Given the description of an element on the screen output the (x, y) to click on. 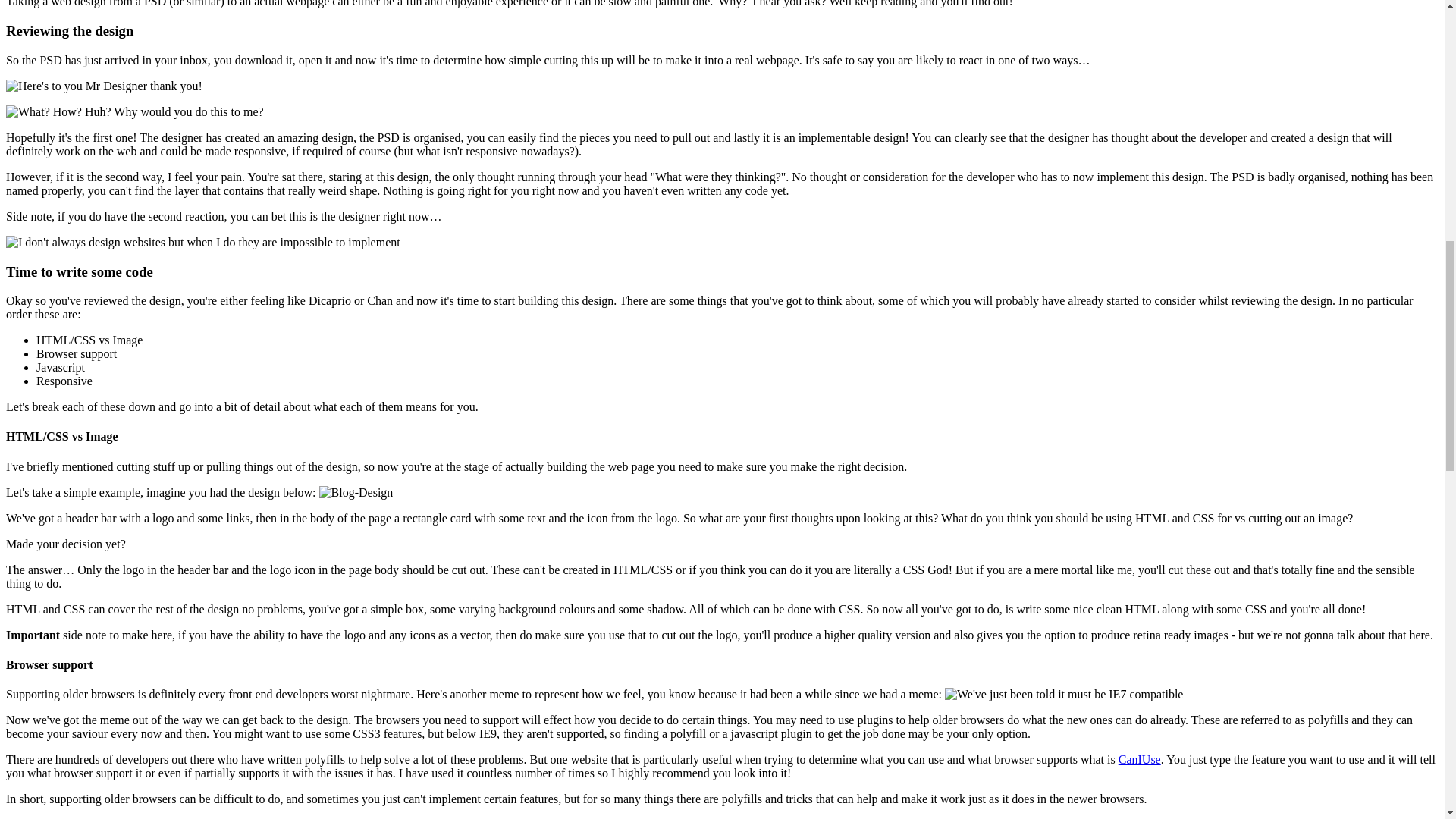
CanIUse (1139, 758)
